Given the description of an element on the screen output the (x, y) to click on. 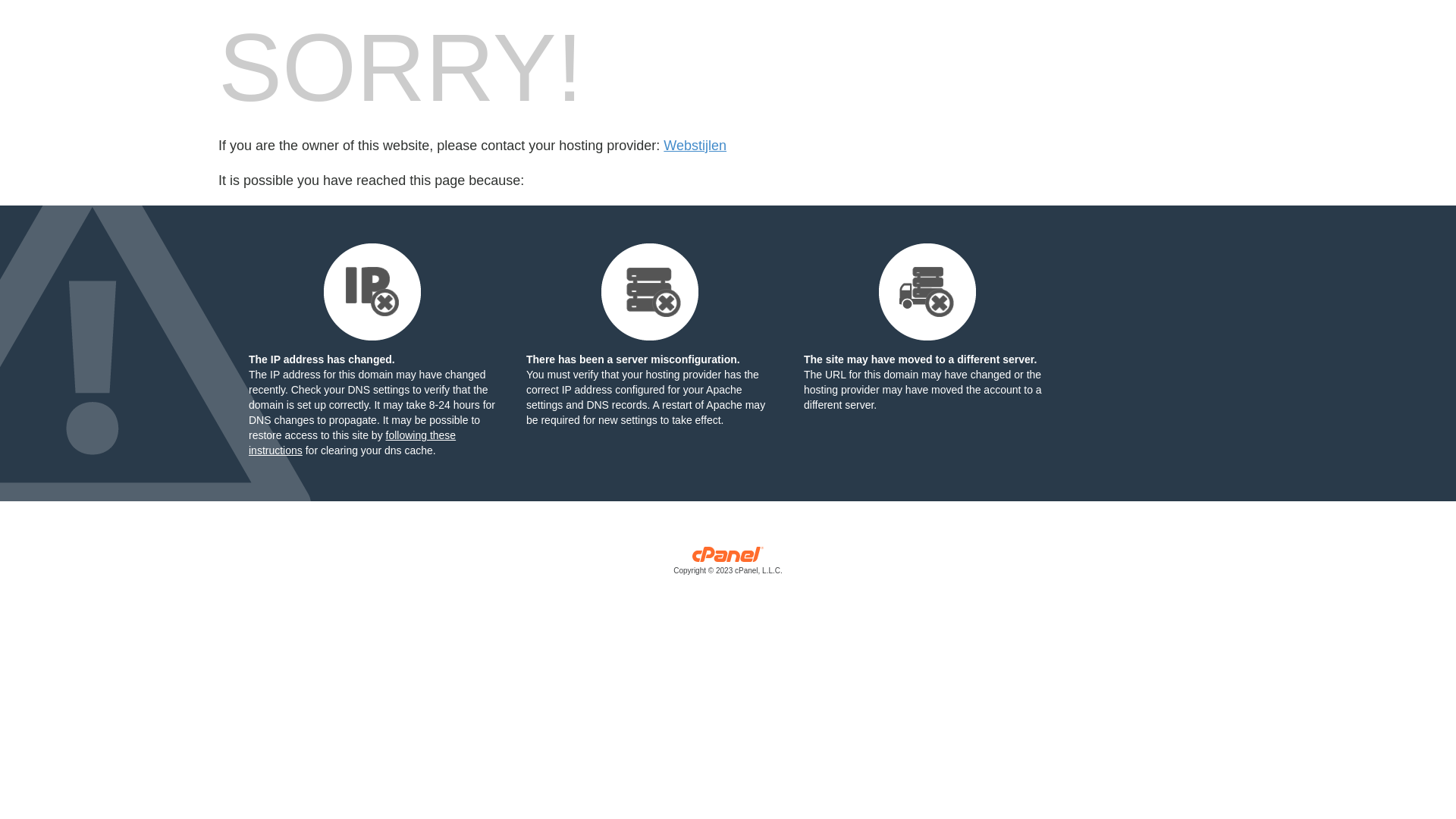
following these instructions Element type: text (351, 442)
Webstijlen Element type: text (694, 145)
